Given the description of an element on the screen output the (x, y) to click on. 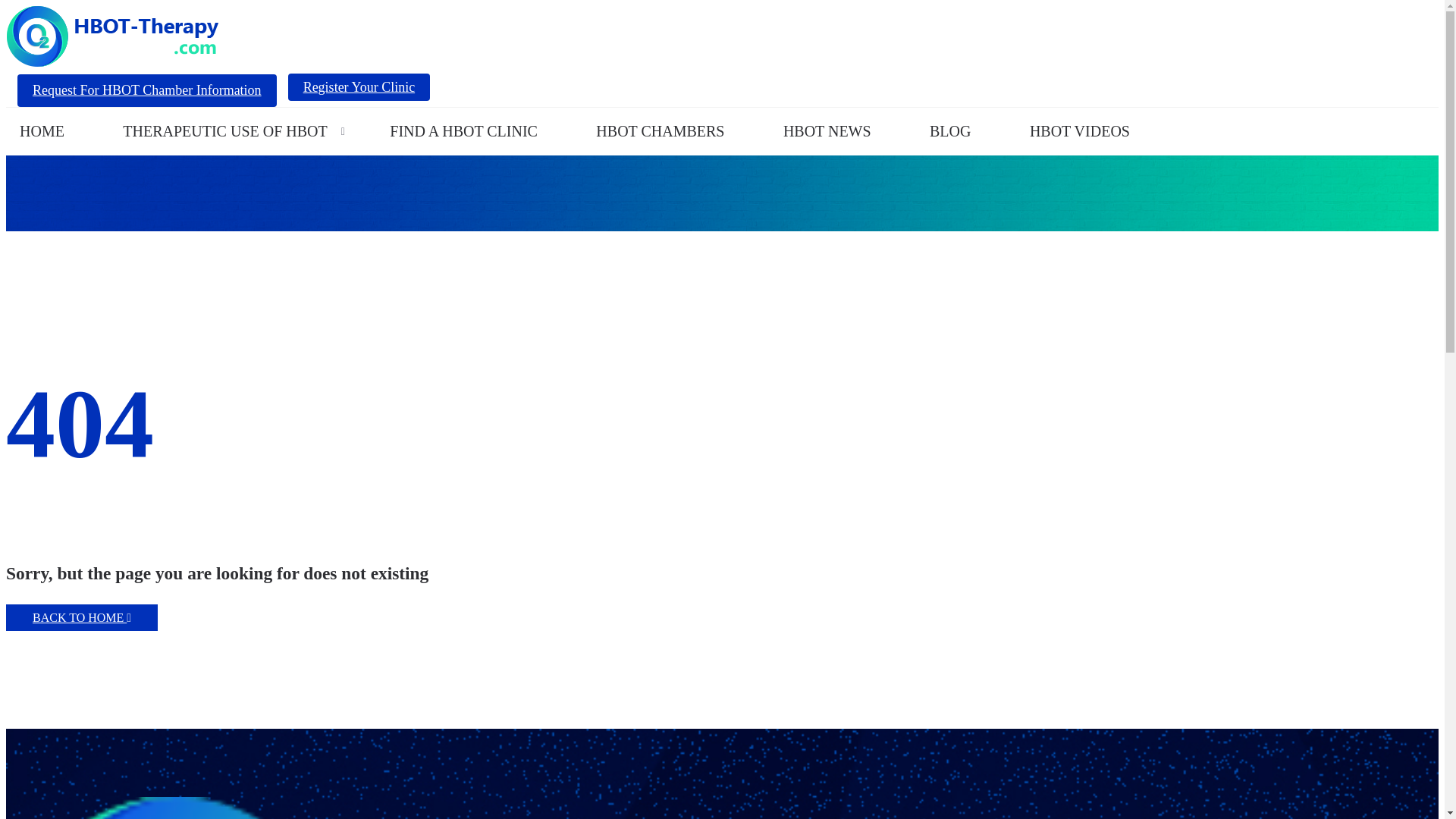
HBOT VIDEOS (1079, 131)
HBOT CHAMBERS (660, 131)
THERAPEUTIC USE OF HBOT (224, 131)
BACK TO HOME (81, 617)
Request For HBOT Chamber Information (146, 90)
Register Your Clinic (359, 86)
FIND A HBOT CLINIC (463, 131)
HOME (41, 131)
HBOT NEWS (827, 131)
BLOG (949, 131)
